Given the description of an element on the screen output the (x, y) to click on. 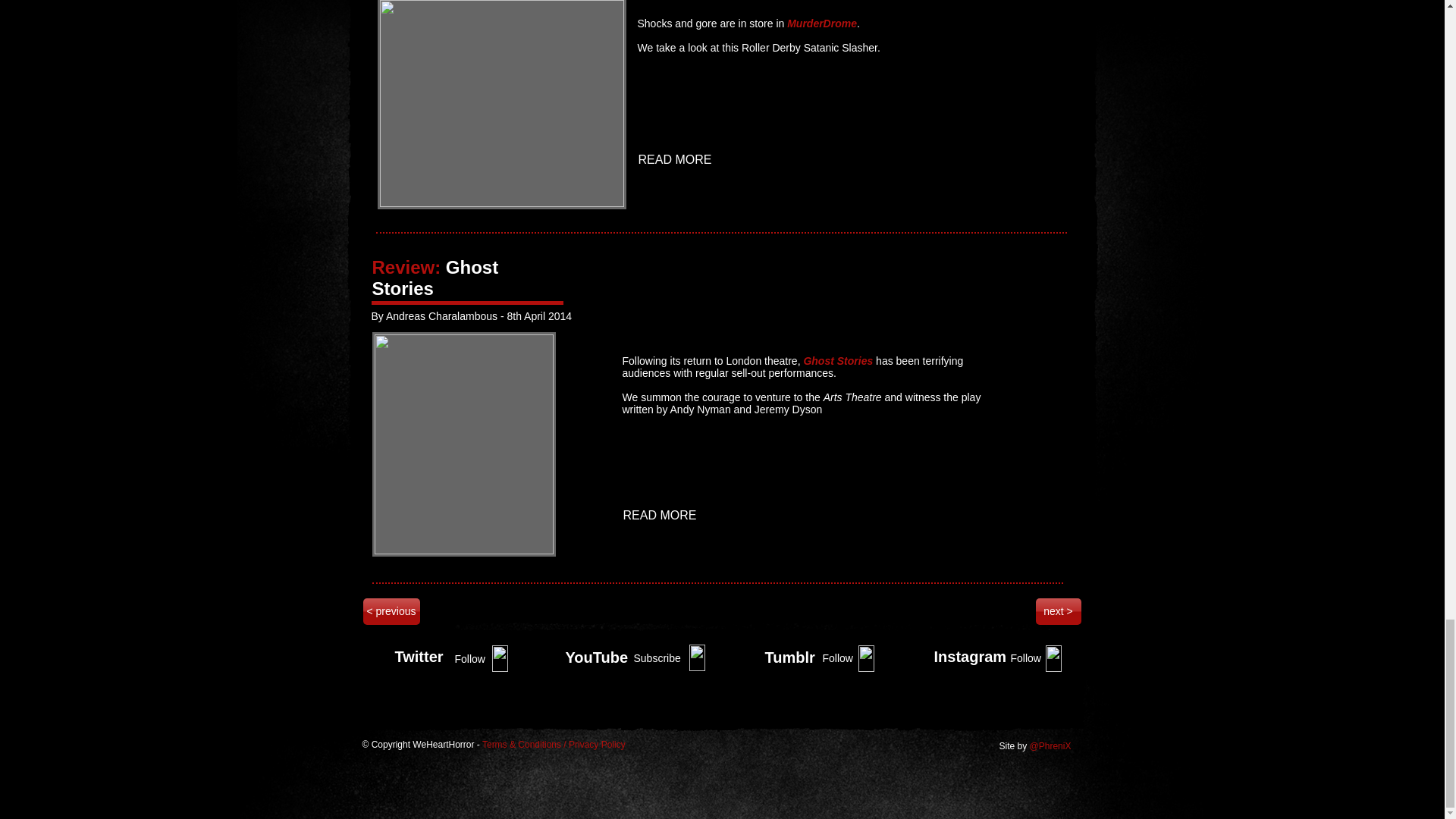
READ MORE (676, 160)
Review: Ghost Stories (434, 277)
READ MORE (661, 516)
